Given the description of an element on the screen output the (x, y) to click on. 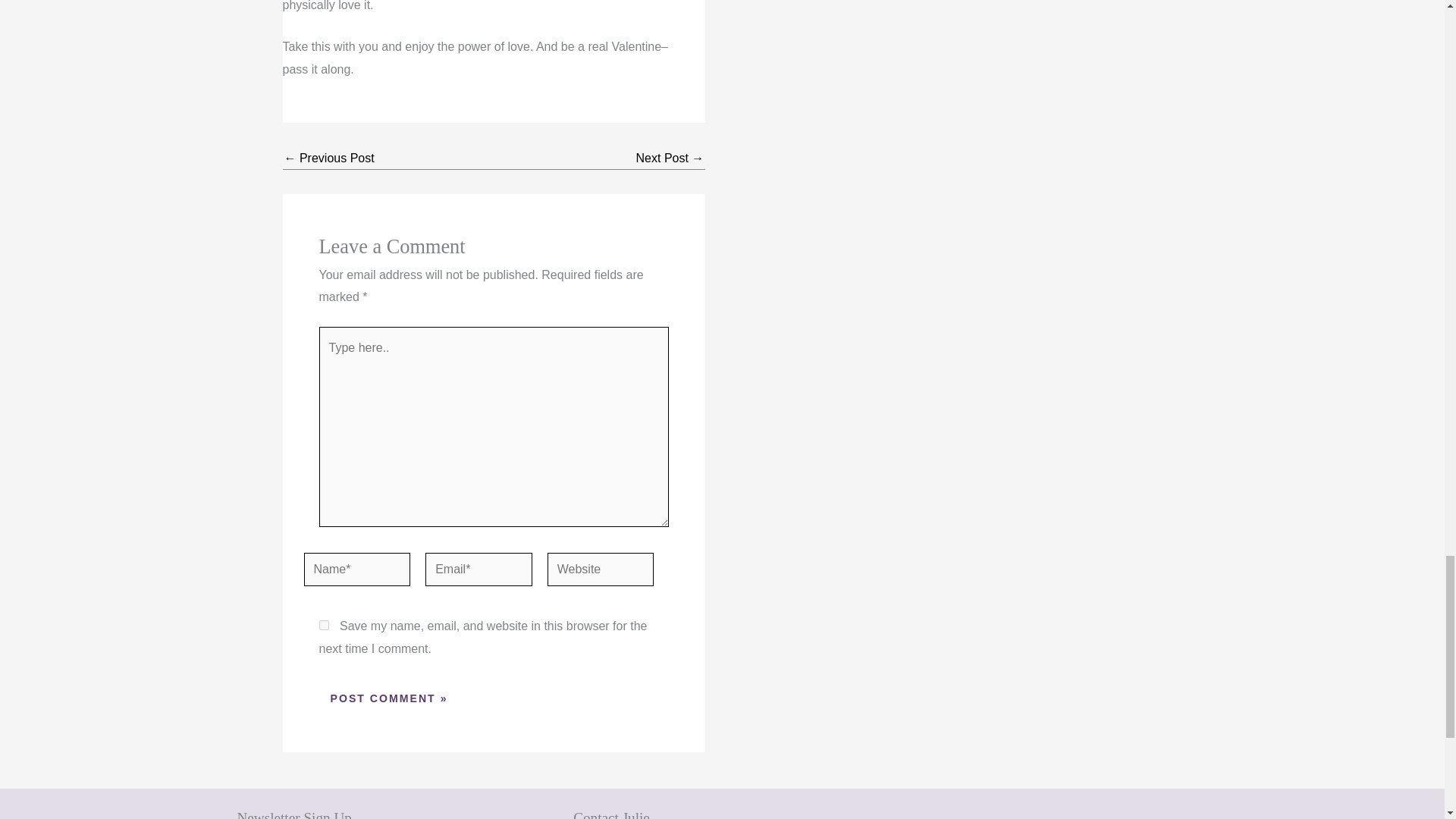
Do you live in a friendly universe? (328, 158)
Relationship DIY Episode 6 (670, 158)
yes (323, 624)
